Given the description of an element on the screen output the (x, y) to click on. 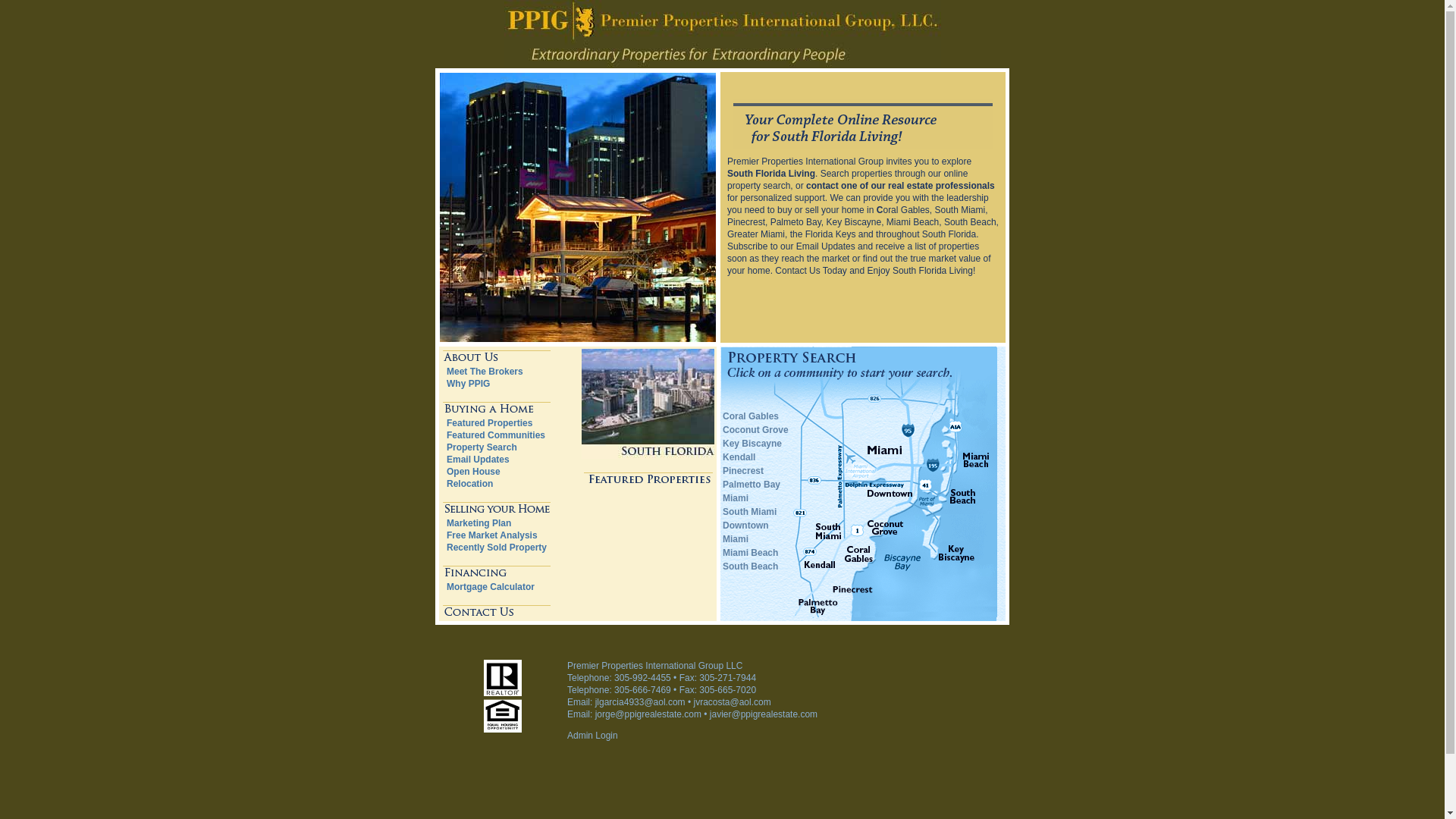
Featured Communities (495, 434)
Email Updates (477, 459)
Coral Gables (750, 416)
Relocation (469, 483)
Miami (735, 498)
Palmetto Bay (751, 484)
Meet The Brokers (484, 371)
Recently Sold Property (496, 547)
Downtown Miami (745, 532)
Pinecrest (742, 470)
Free Market Analysis (491, 534)
Key Biscayne (751, 443)
Property Search (481, 447)
contact one of our real estate professionals (900, 185)
Why PPIG (467, 383)
